Given the description of an element on the screen output the (x, y) to click on. 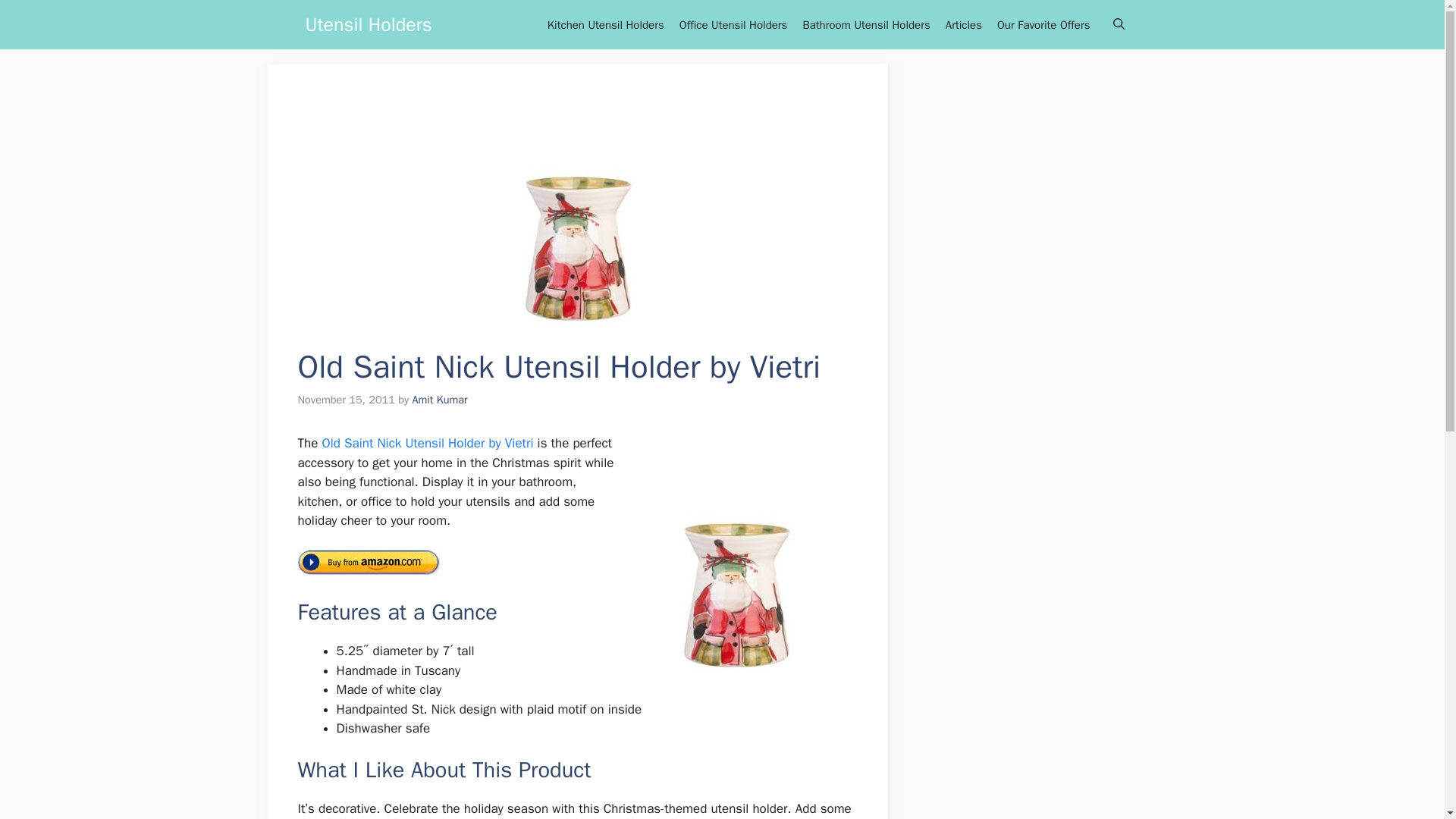
Our Favorite Offers (1043, 23)
Old Saint Nick Utensil Holder by Vietri (424, 442)
Office Utensil Holders (732, 23)
Articles (963, 23)
old-saint-nick-utensil-holder (734, 555)
Bathroom Utensil Holders (865, 23)
View all posts by Amit Kumar (439, 399)
Amit Kumar (439, 399)
amazon-buy-button (368, 561)
Utensil Holders (367, 24)
Kitchen Utensil Holders (605, 23)
